Given the description of an element on the screen output the (x, y) to click on. 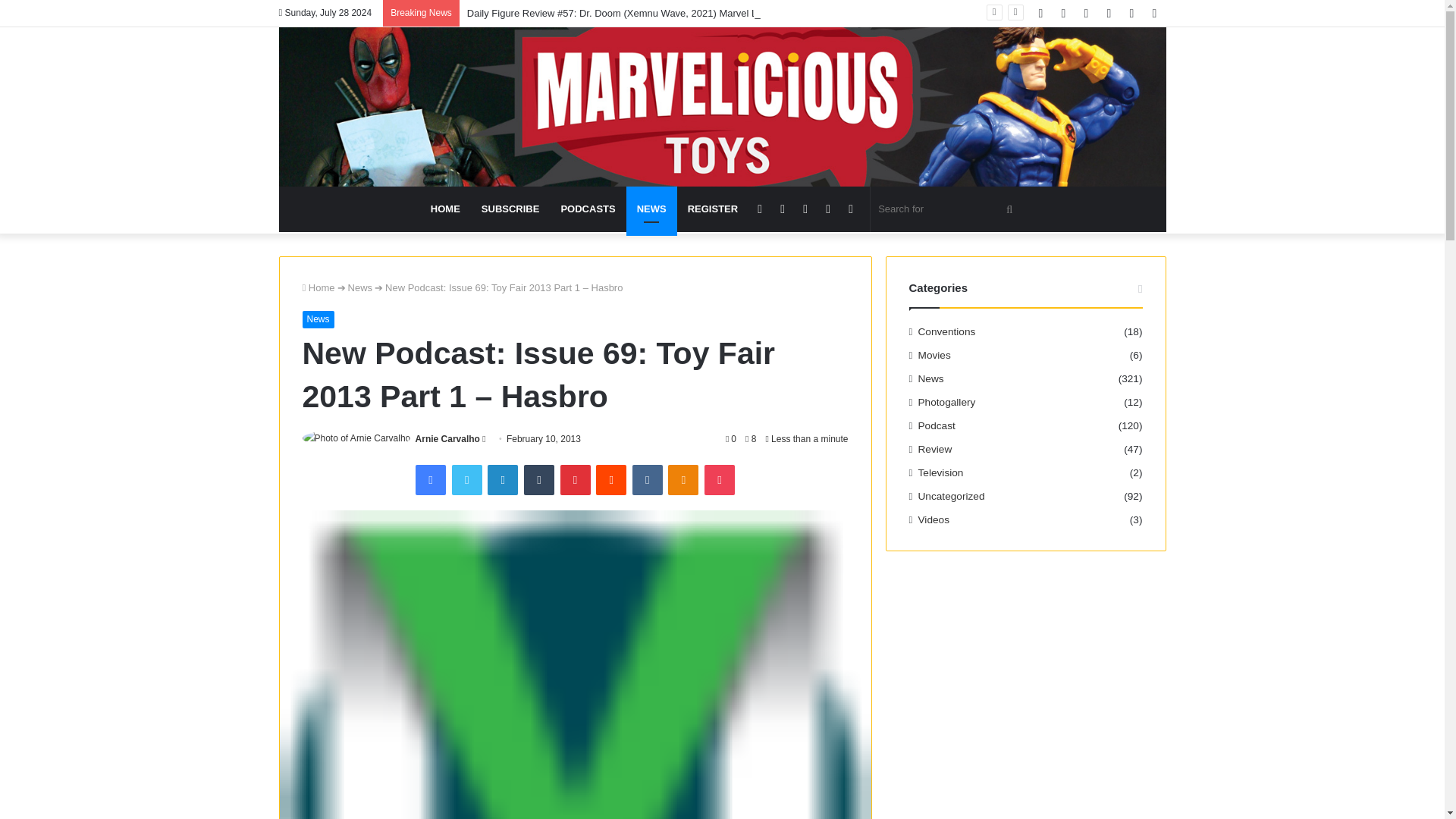
Reddit (610, 480)
Tumblr (539, 480)
News (359, 287)
Pinterest (574, 480)
Odnoklassniki (683, 480)
Facebook (429, 480)
Pocket (719, 480)
News (317, 319)
Facebook (429, 480)
PODCASTS (588, 208)
HOME (445, 208)
Arnie Carvalho (447, 439)
Tumblr (539, 480)
Home (317, 287)
